Given the description of an element on the screen output the (x, y) to click on. 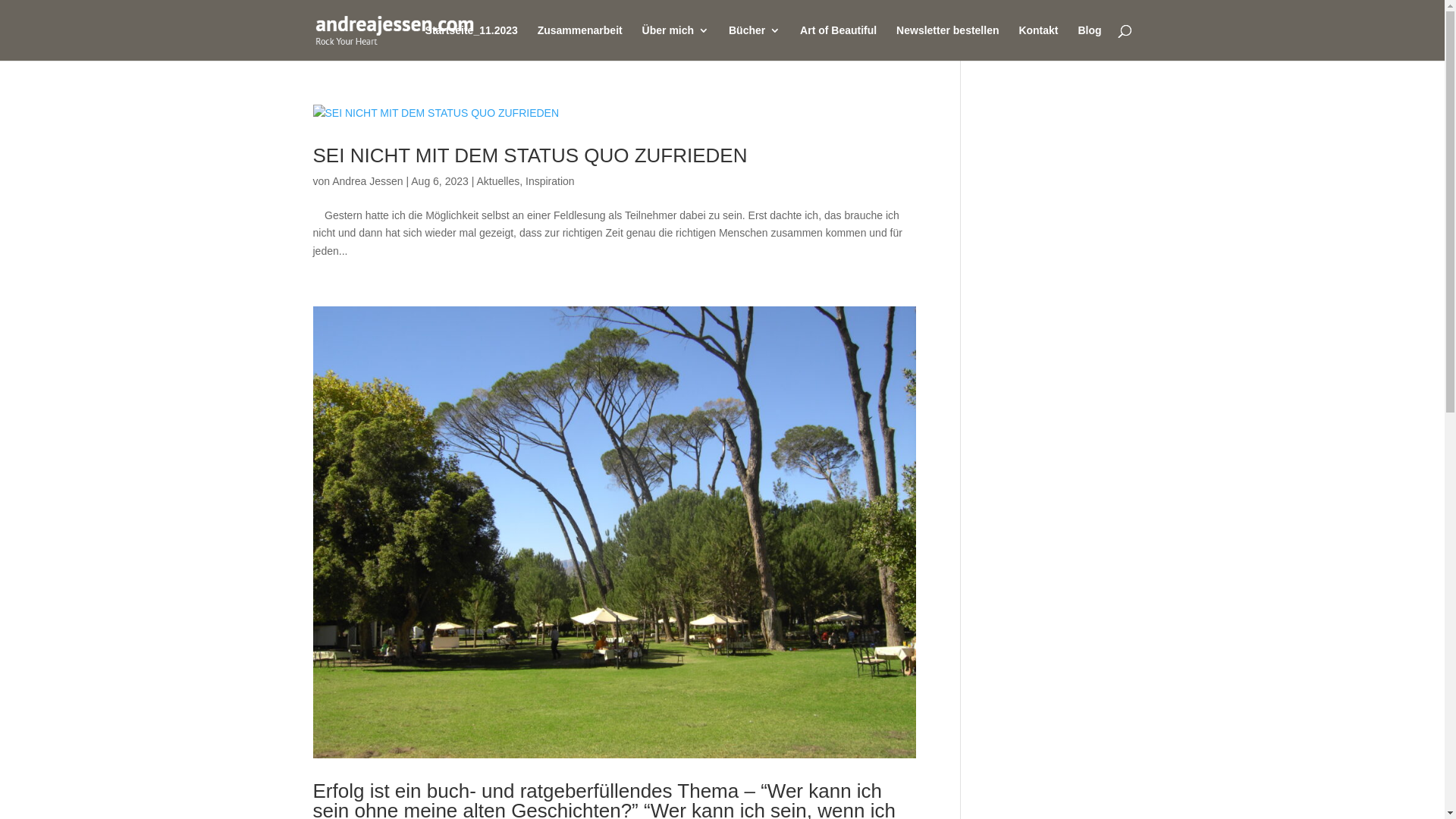
Andrea Jessen Element type: text (367, 181)
Zusammenarbeit Element type: text (579, 42)
SEI NICHT MIT DEM STATUS QUO ZUFRIEDEN Element type: text (529, 155)
Newsletter bestellen Element type: text (947, 42)
Inspiration Element type: text (549, 181)
Kontakt Element type: text (1037, 42)
Art of Beautiful Element type: text (838, 42)
Blog Element type: text (1089, 42)
Startseite_11.2023 Element type: text (471, 42)
Aktuelles Element type: text (497, 181)
